Given the description of an element on the screen output the (x, y) to click on. 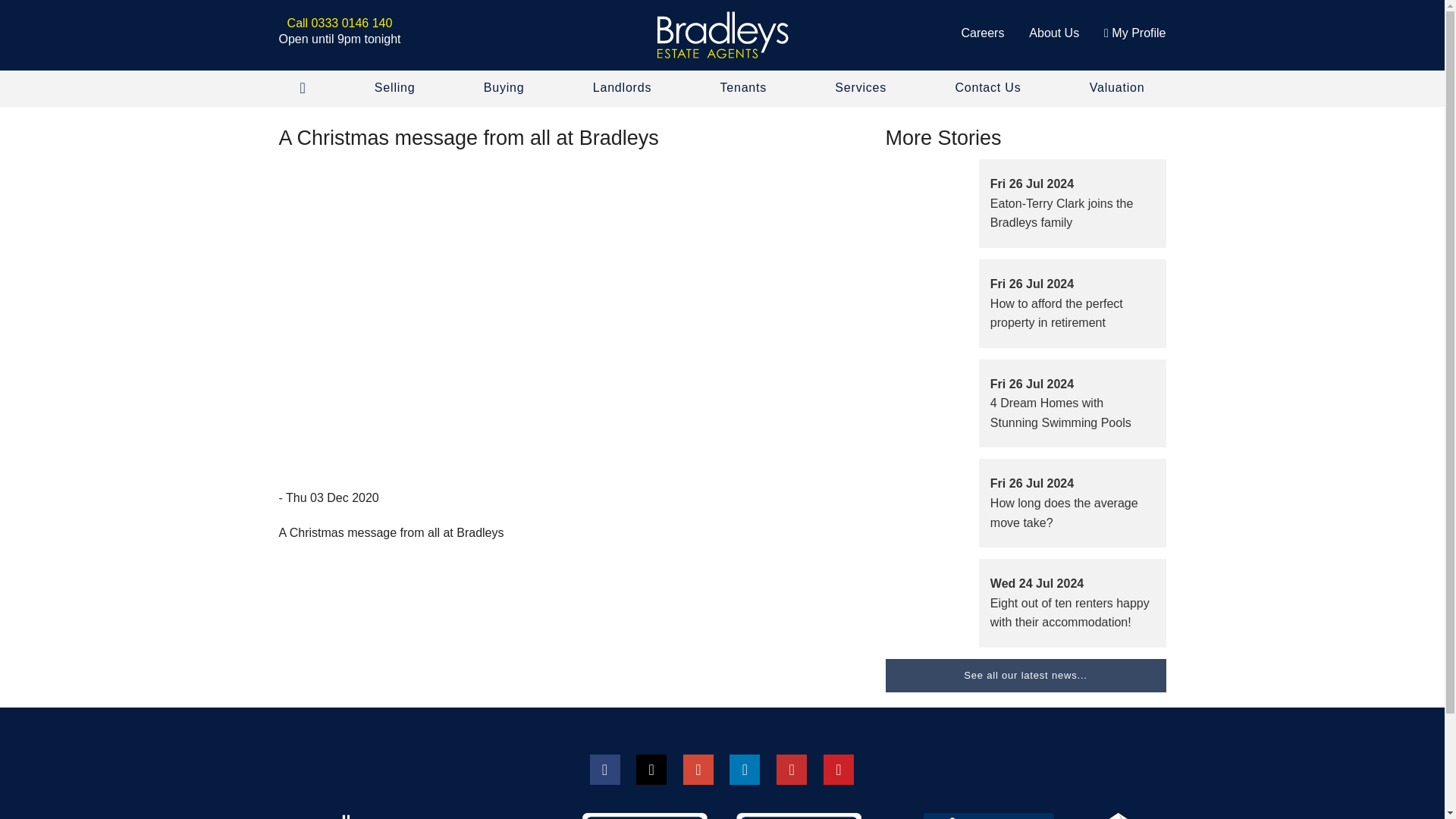
Landlords (622, 88)
Contact Us (987, 88)
Return to Home Page (721, 34)
About Us (1053, 32)
Services (860, 88)
Selling (394, 88)
Tenants (742, 88)
Bradleys Estate Agents (721, 34)
Call 0333 0146 140 (339, 22)
Careers (982, 32)
Valuation (1117, 88)
My Profile (1134, 32)
Buying (504, 88)
